Given the description of an element on the screen output the (x, y) to click on. 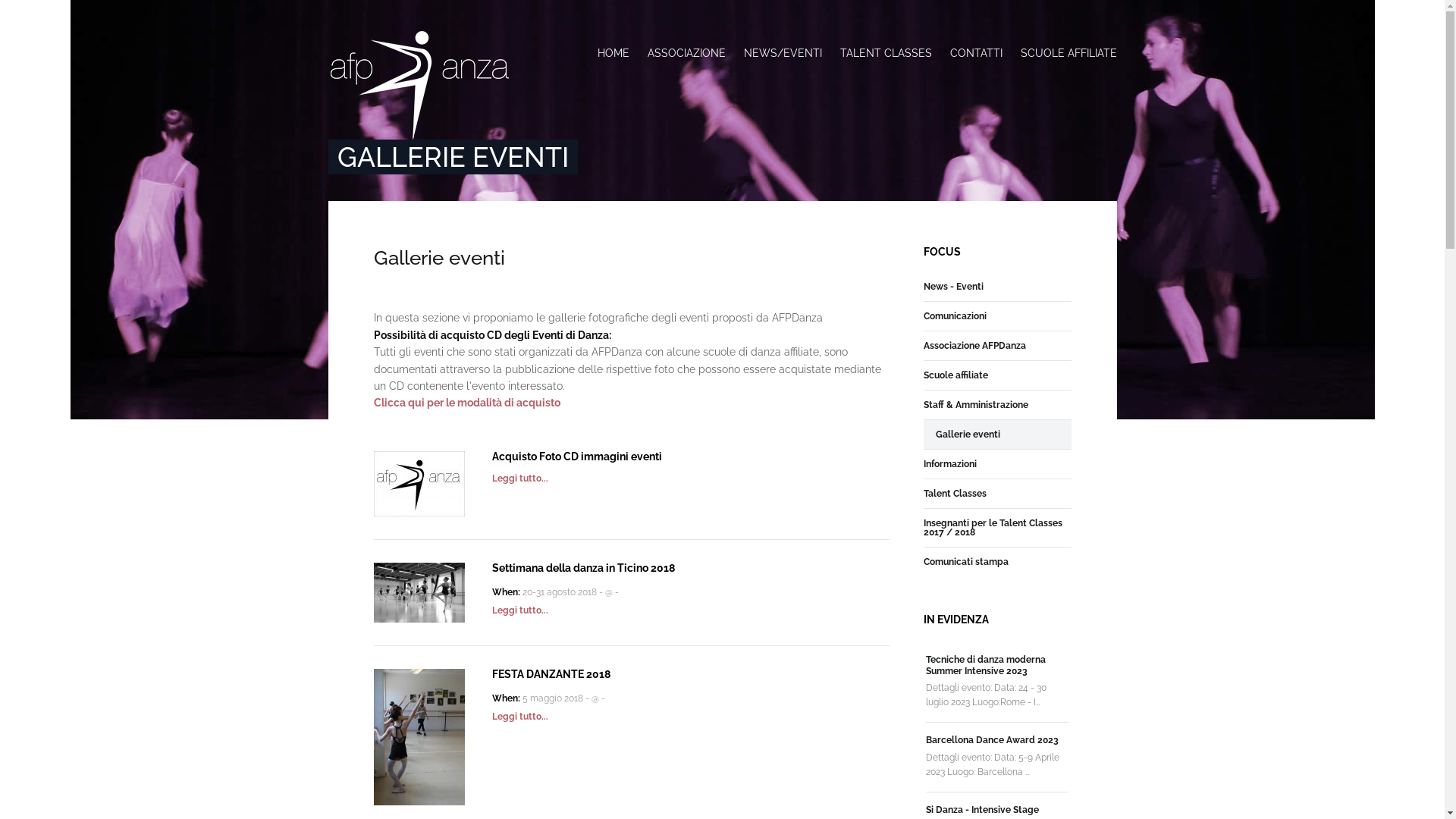
Si Danza - Intensive Stage Element type: text (981, 809)
ASSOCIAZIONE Element type: text (686, 52)
Scuole affiliate Element type: text (955, 374)
FESTA DANZANTE 2018 Element type: text (550, 674)
AFPDanza Element type: text (419, 85)
Leggi tutto... Element type: text (631, 716)
Informazioni Element type: text (949, 463)
Settimana della danza in Ticino 2018 Element type: text (582, 567)
Gallerie eventi Element type: text (967, 434)
Talent Classes Element type: text (954, 493)
Staff & Amministrazione Element type: text (975, 404)
News - Eventi Element type: text (953, 286)
CONTATTI Element type: text (975, 52)
Barcellona Dance Award 2023 Element type: text (991, 739)
Comunicazioni Element type: text (954, 315)
Insegnanti per le Talent Classes 2017 / 2018 Element type: text (996, 527)
FESTA DANZANTE 2018 Element type: hover (418, 736)
Comunicati stampa Element type: text (965, 561)
Leggi tutto... Element type: text (631, 610)
Associazione AFPDanza Element type: text (974, 345)
Tecniche di danza moderna Summer Intensive 2023 Element type: text (985, 664)
Settimana della danza in Ticino 2018 Element type: hover (418, 592)
SCUOLE AFFILIATE Element type: text (1064, 52)
Acquisto Foto CD immagini eventi Element type: text (576, 456)
TALENT CLASSES Element type: text (886, 52)
HOME Element type: text (617, 52)
Acquisto Foto CD immagini eventi Element type: hover (418, 483)
NEWS/EVENTI Element type: text (782, 52)
Leggi tutto... Element type: text (631, 478)
